Given the description of an element on the screen output the (x, y) to click on. 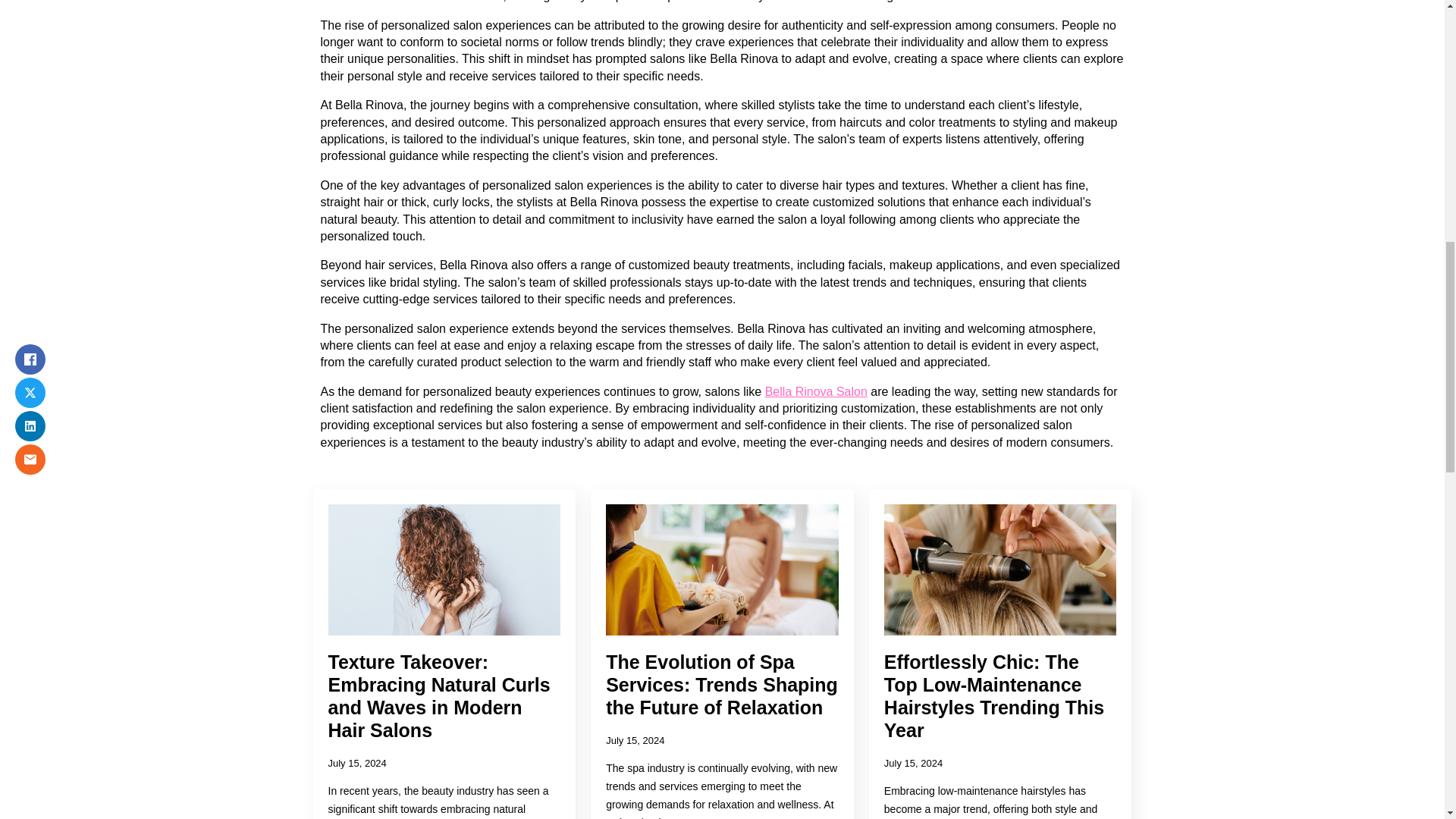
Bella Rinova Salon (816, 391)
